Given the description of an element on the screen output the (x, y) to click on. 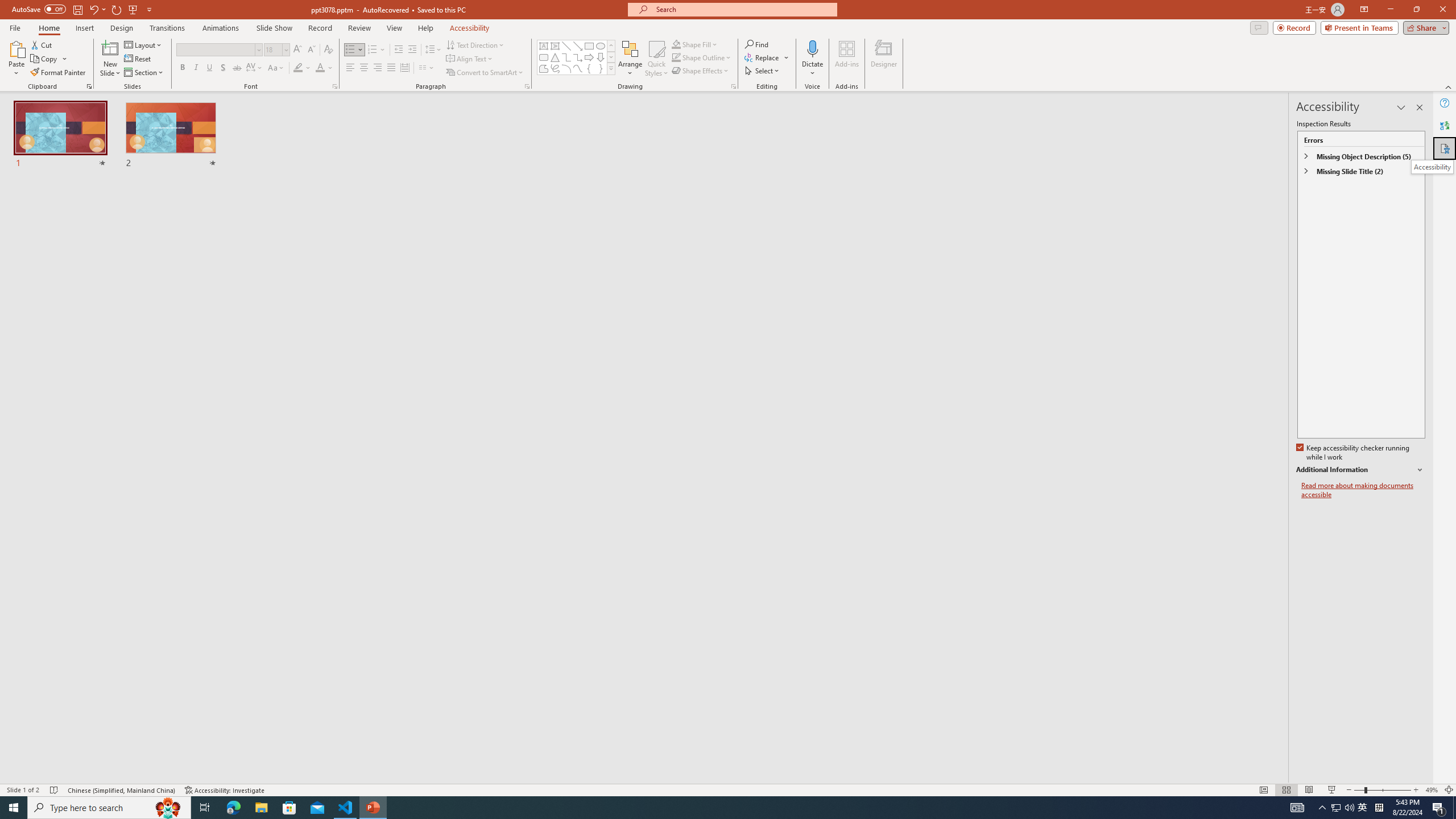
Zoom 49% (1431, 790)
